Given the description of an element on the screen output the (x, y) to click on. 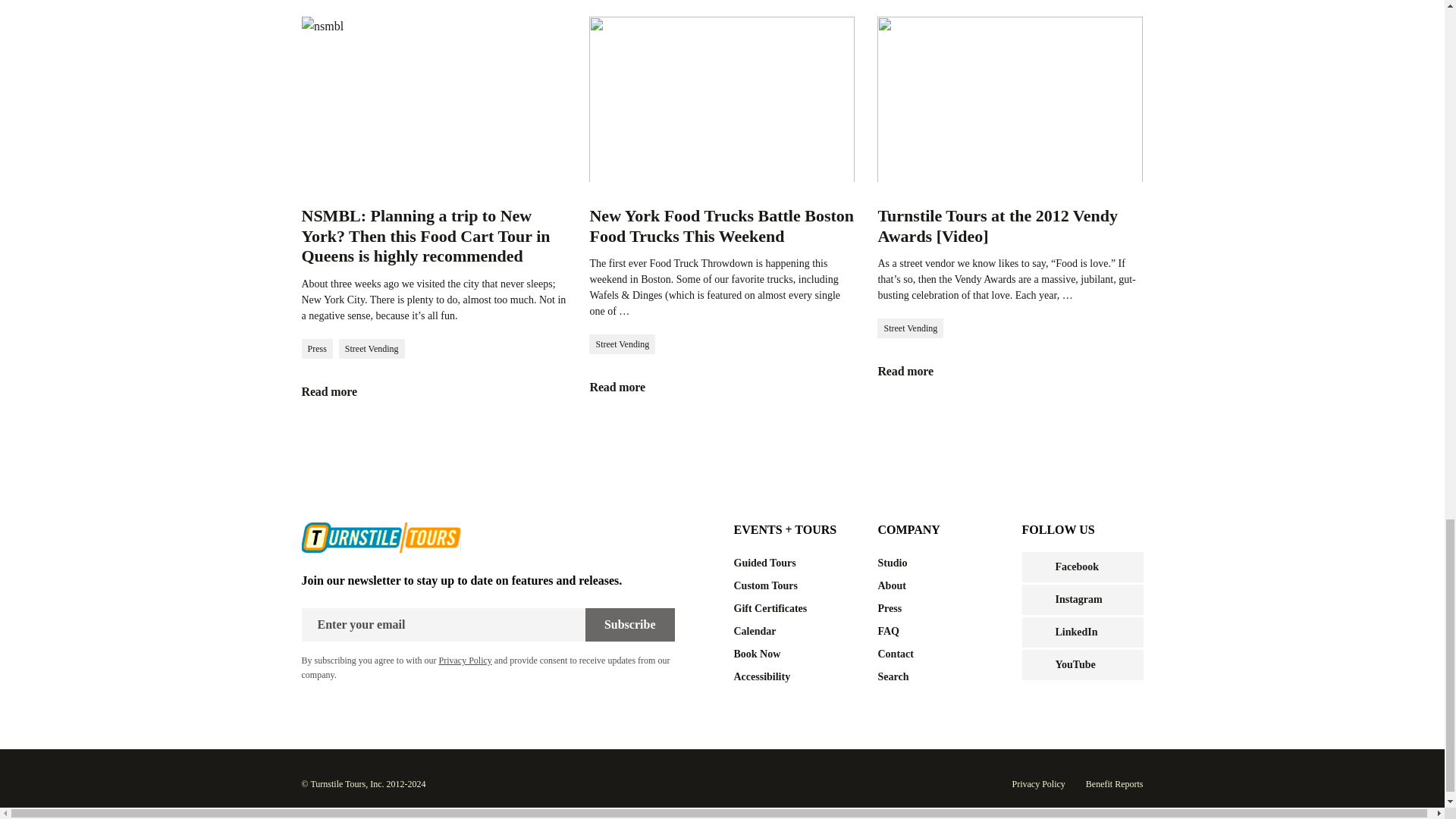
LinkedIn (1036, 632)
Privacy Policy (465, 660)
Instagram (1036, 599)
Book Now (794, 653)
Guided Tours (794, 563)
About (937, 585)
YouTube (1036, 665)
Subscribe (630, 624)
Facebook (1036, 566)
Custom Tours (794, 585)
